Given the description of an element on the screen output the (x, y) to click on. 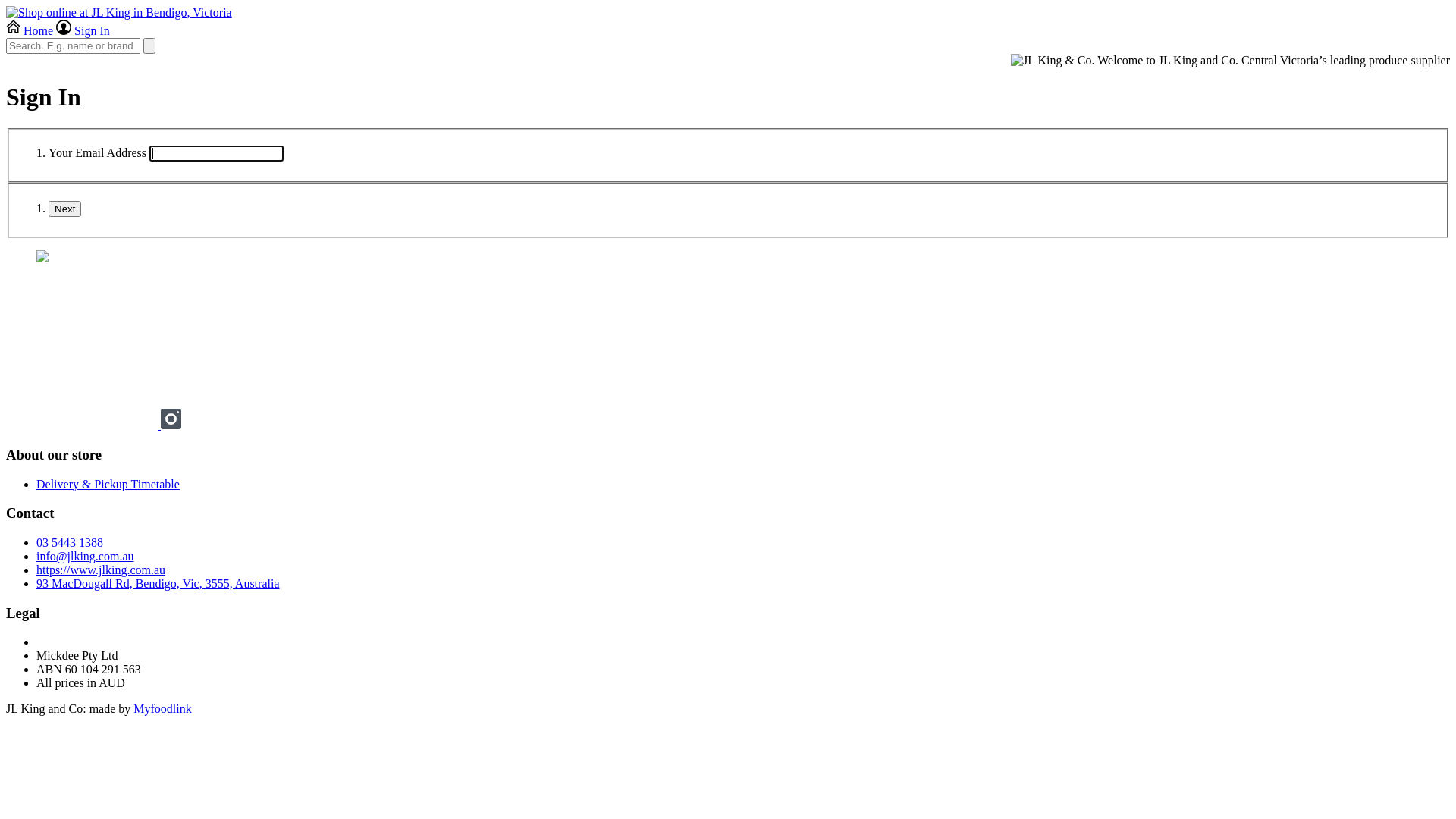
Next Element type: text (64, 208)
Facebook Element type: hover (83, 424)
Instagram jlkingco Element type: hover (170, 424)
https://www.jlking.com.au Element type: text (100, 569)
03 5443 1388 Element type: text (69, 542)
Sign In Element type: text (82, 30)
93 MacDougall Rd, Bendigo, Vic, 3555, Australia Element type: text (157, 583)
Search Element type: hover (149, 45)
Myfoodlink Element type: text (162, 708)
info@jlking.com.au Element type: text (85, 555)
Delivery & Pickup Timetable Element type: text (107, 483)
Home Element type: text (31, 30)
